Given the description of an element on the screen output the (x, y) to click on. 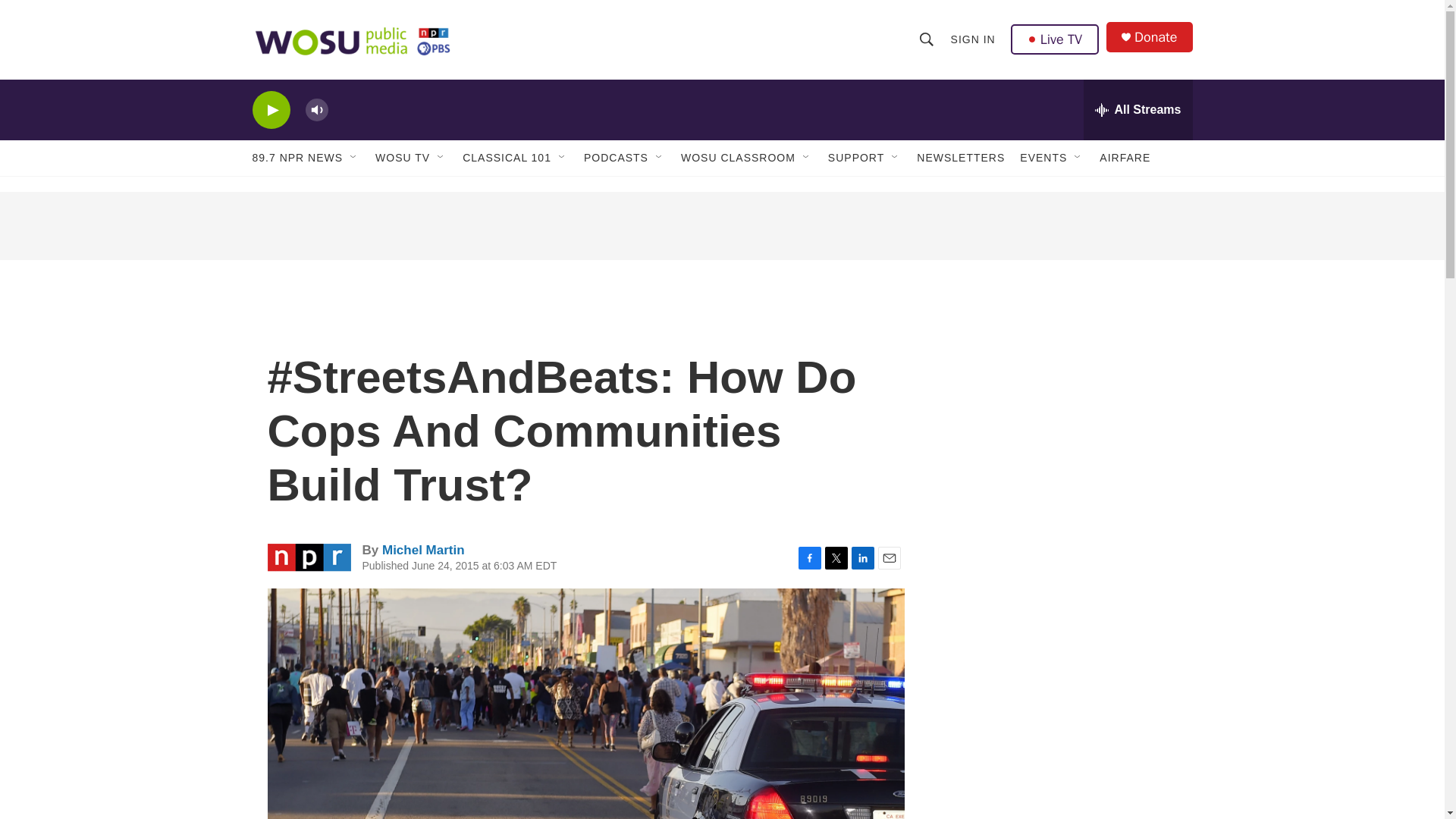
3rd party ad content (721, 225)
3rd party ad content (1062, 782)
3rd party ad content (1062, 400)
3rd party ad content (1062, 619)
